Given the description of an element on the screen output the (x, y) to click on. 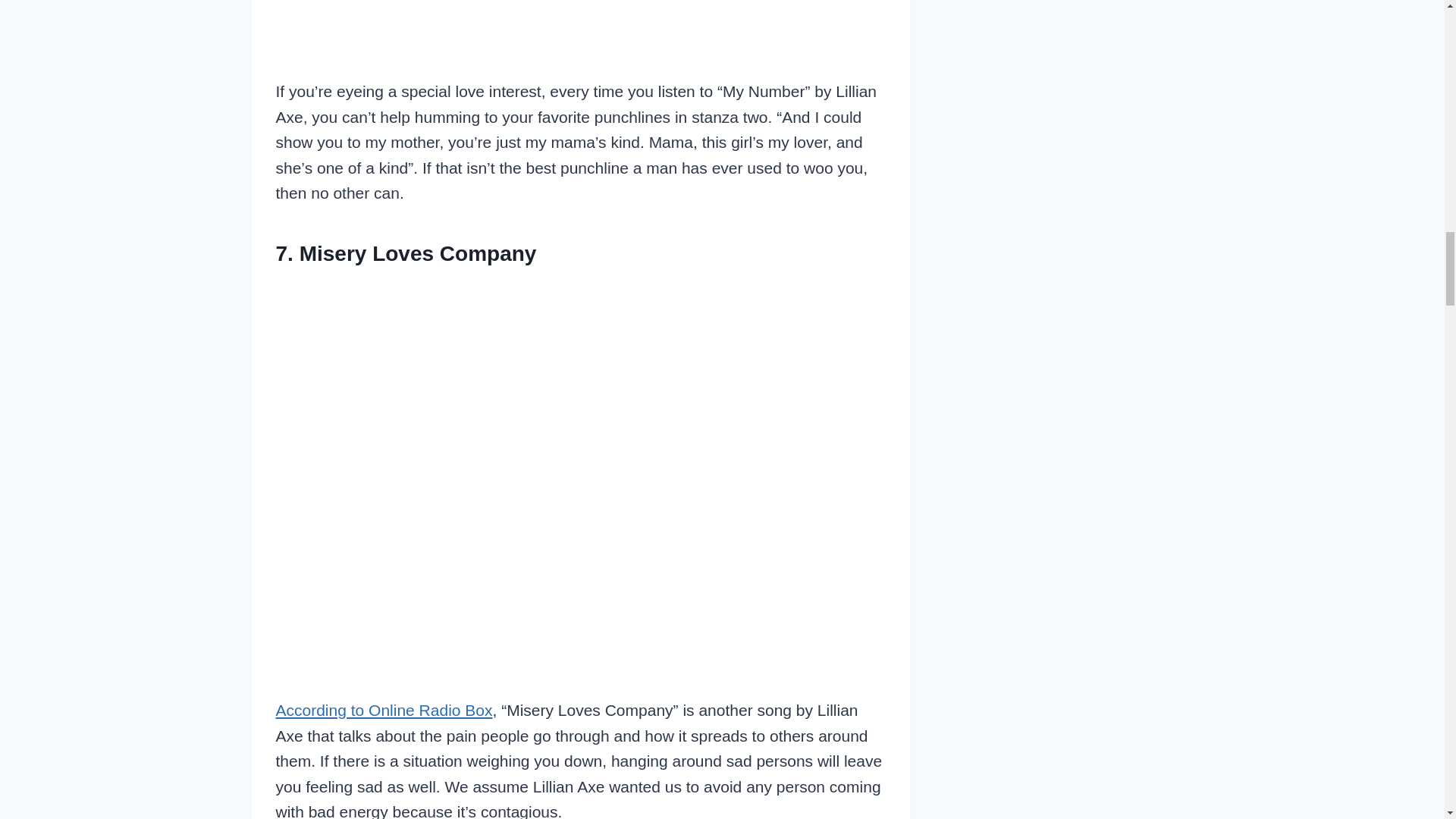
According to Online Radio Box (384, 710)
